Given the description of an element on the screen output the (x, y) to click on. 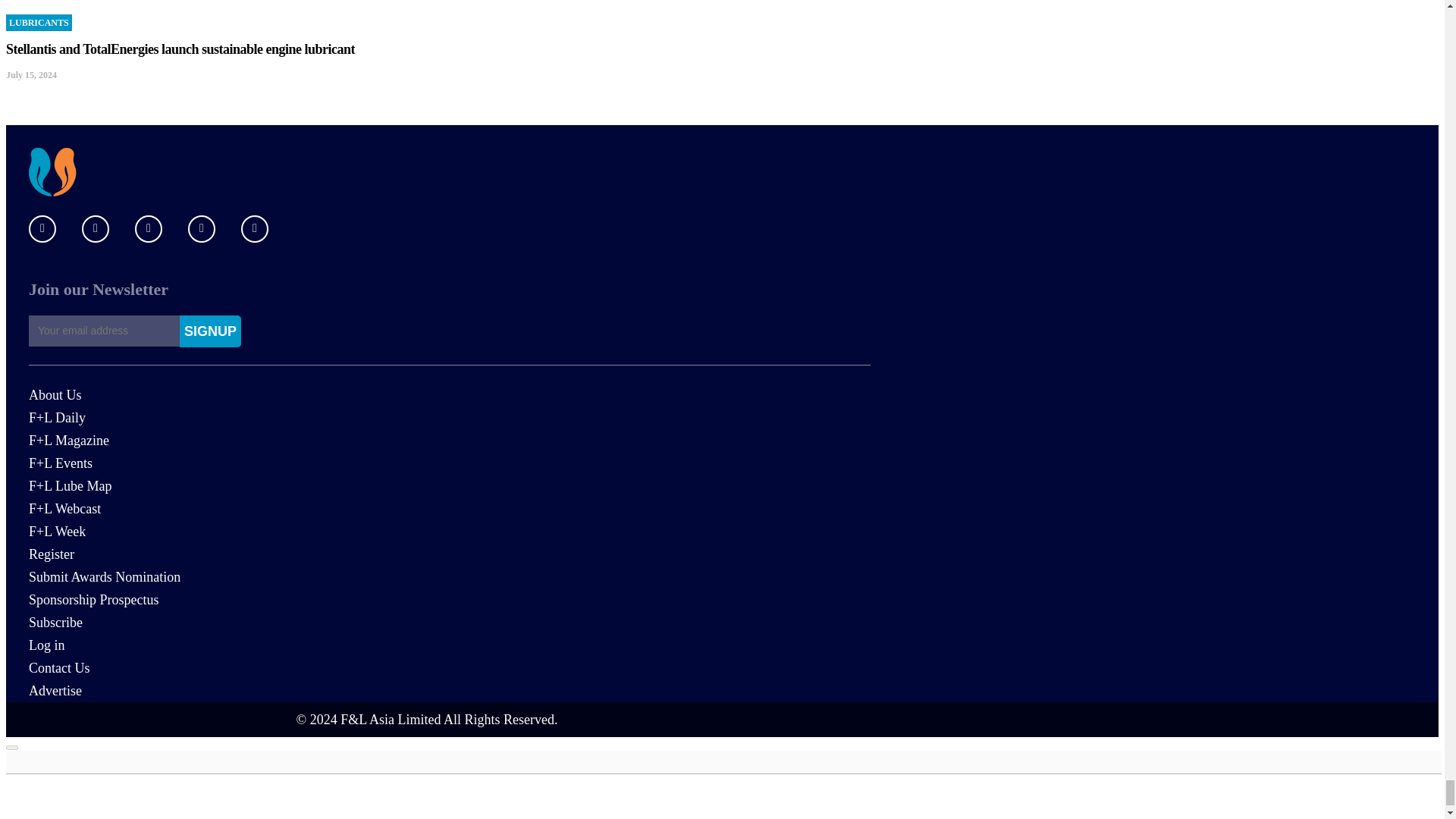
SIGNUP (210, 331)
